Given the description of an element on the screen output the (x, y) to click on. 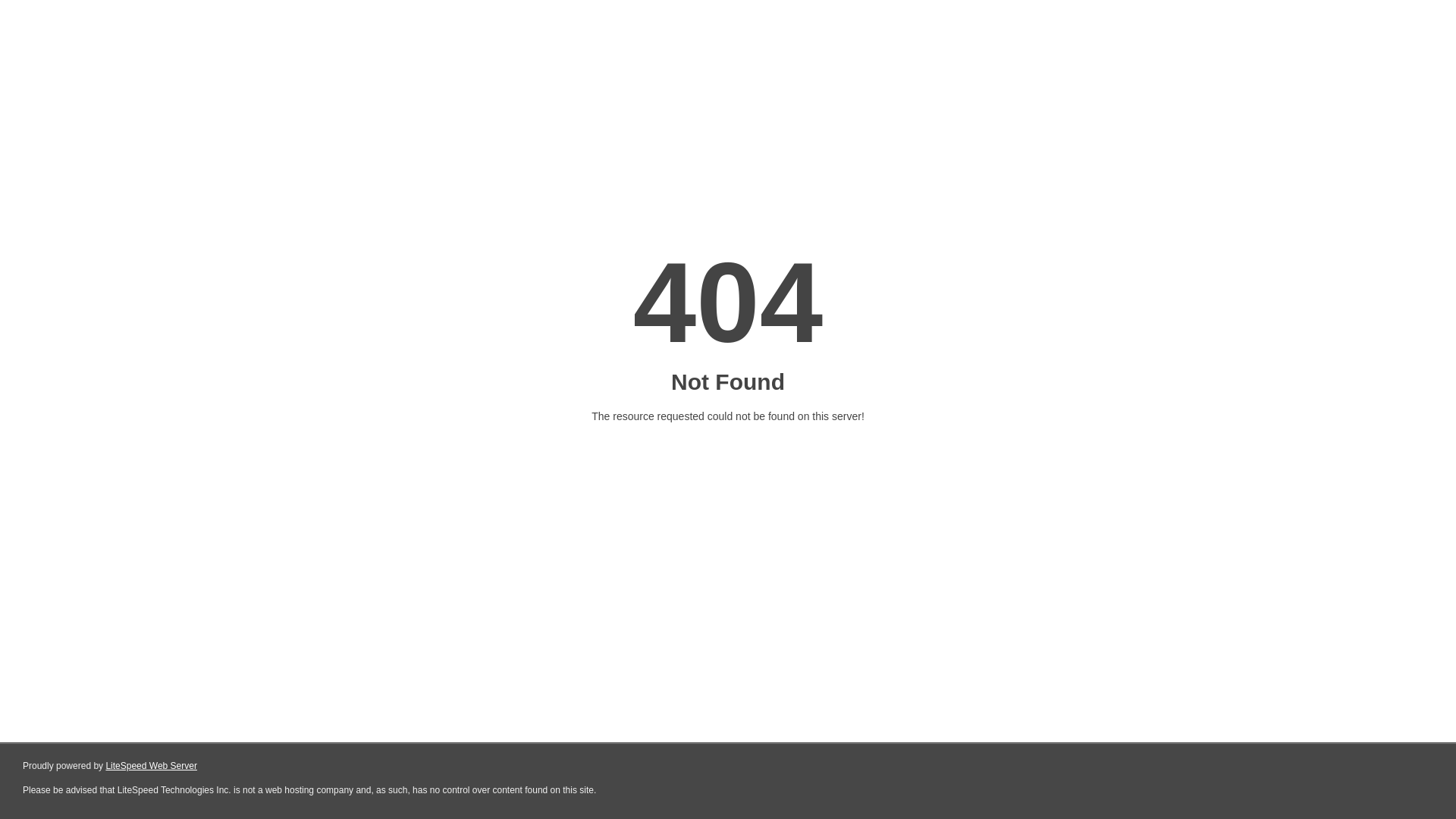
LiteSpeed Web Server Element type: text (151, 765)
